Given the description of an element on the screen output the (x, y) to click on. 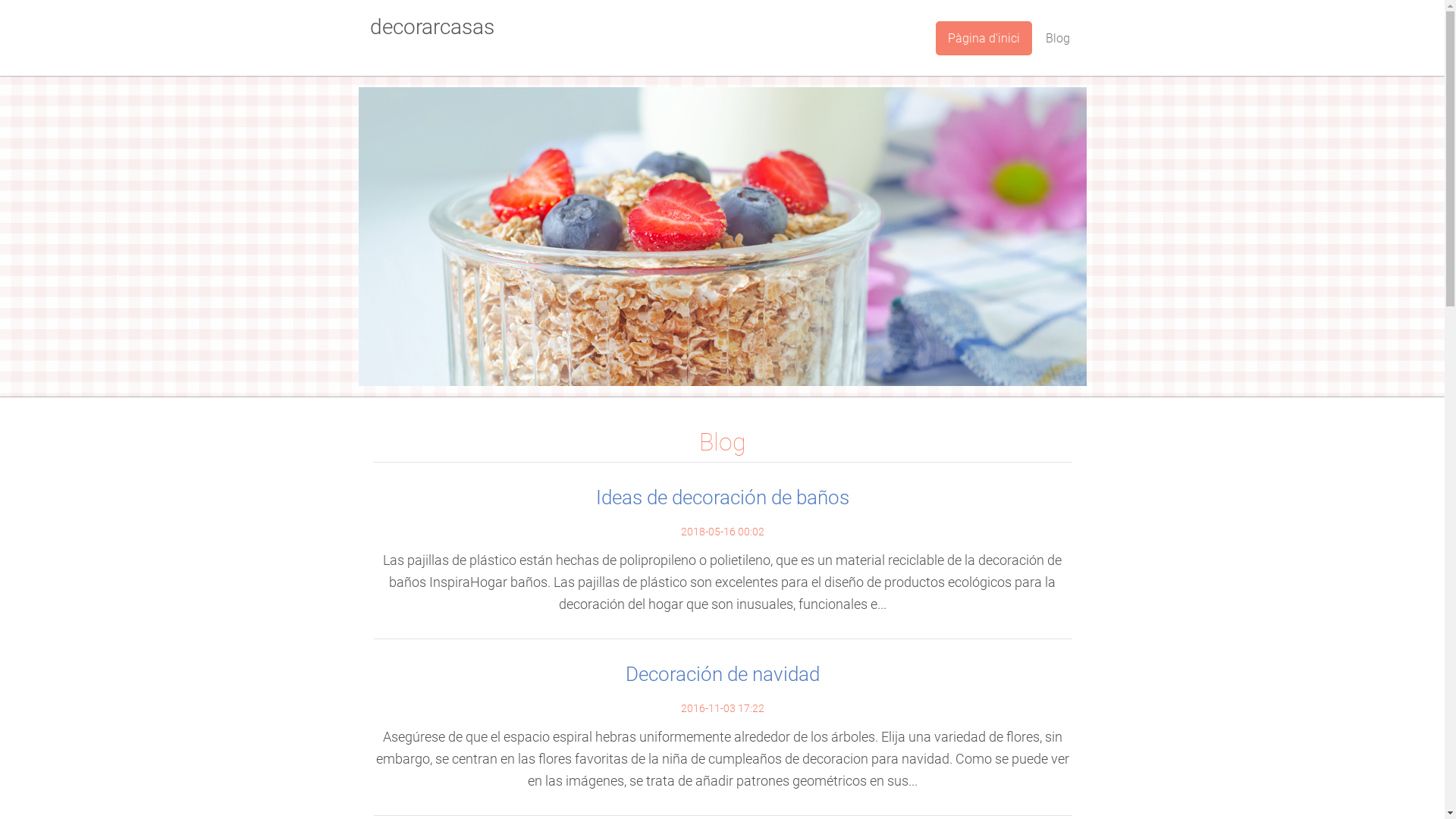
Blog Element type: text (1056, 38)
